Given the description of an element on the screen output the (x, y) to click on. 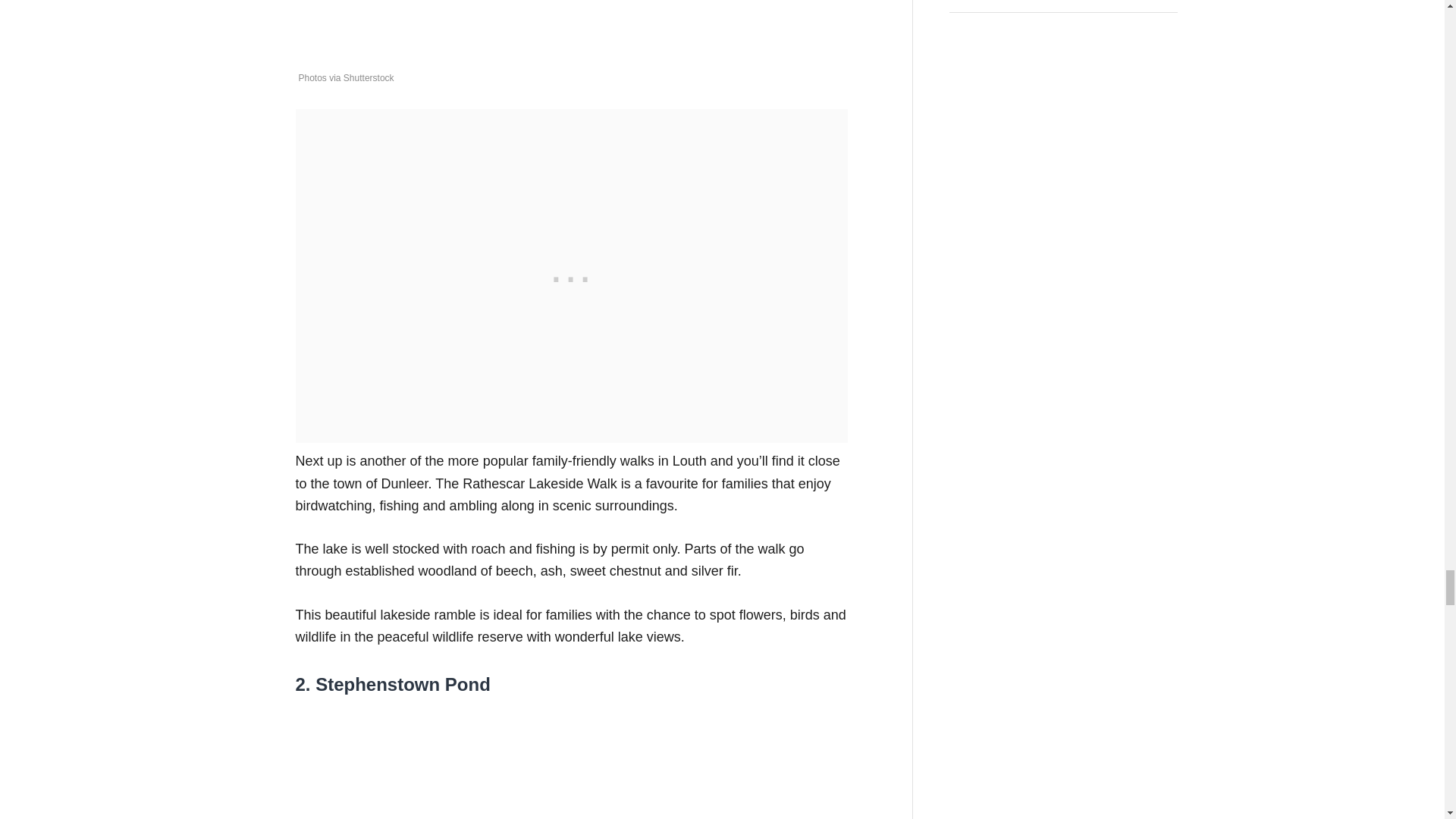
YouTube video player (507, 763)
